Given the description of an element on the screen output the (x, y) to click on. 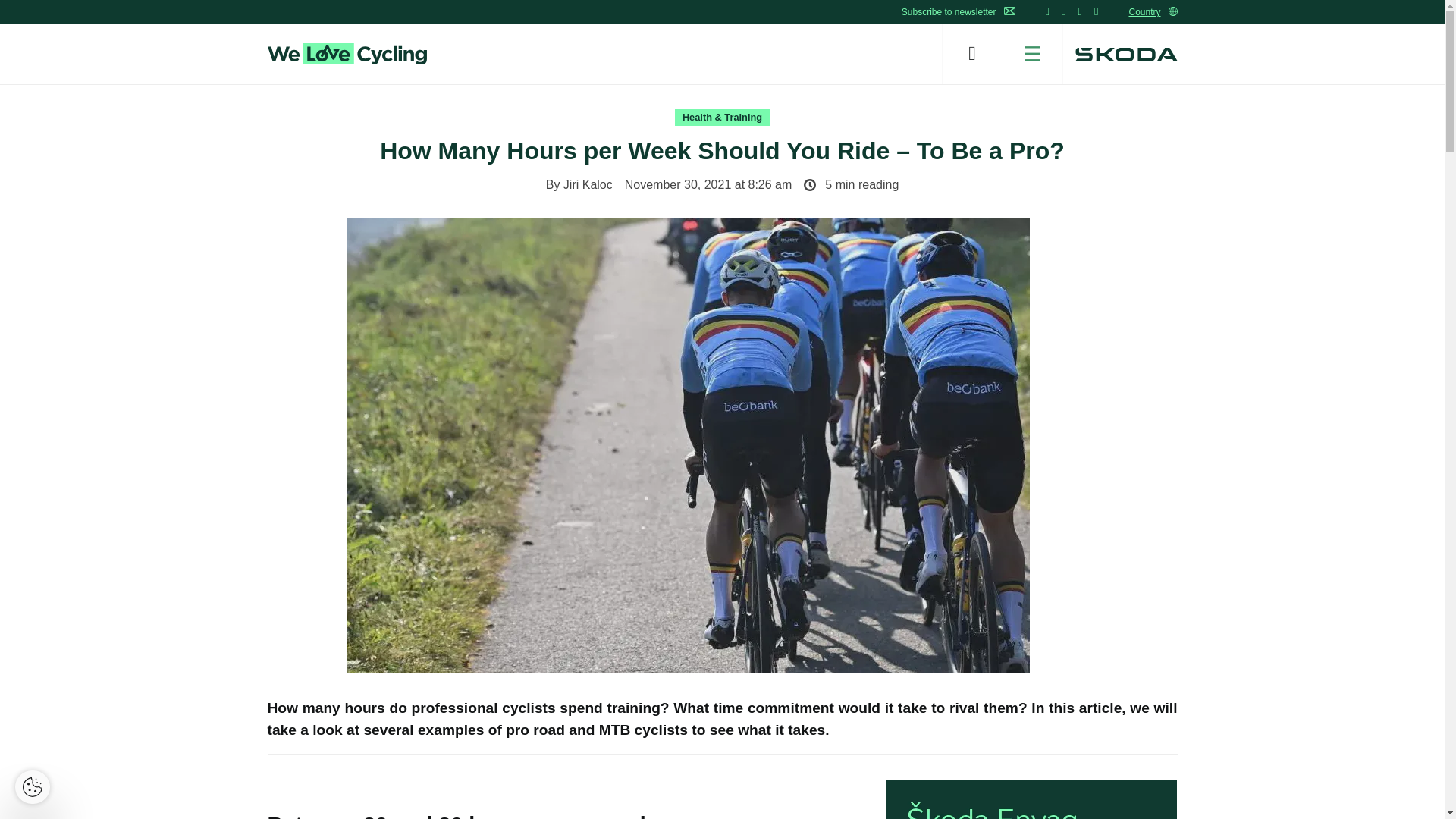
We Love Cycling magazine (346, 53)
Menu (1032, 53)
